Given the description of an element on the screen output the (x, y) to click on. 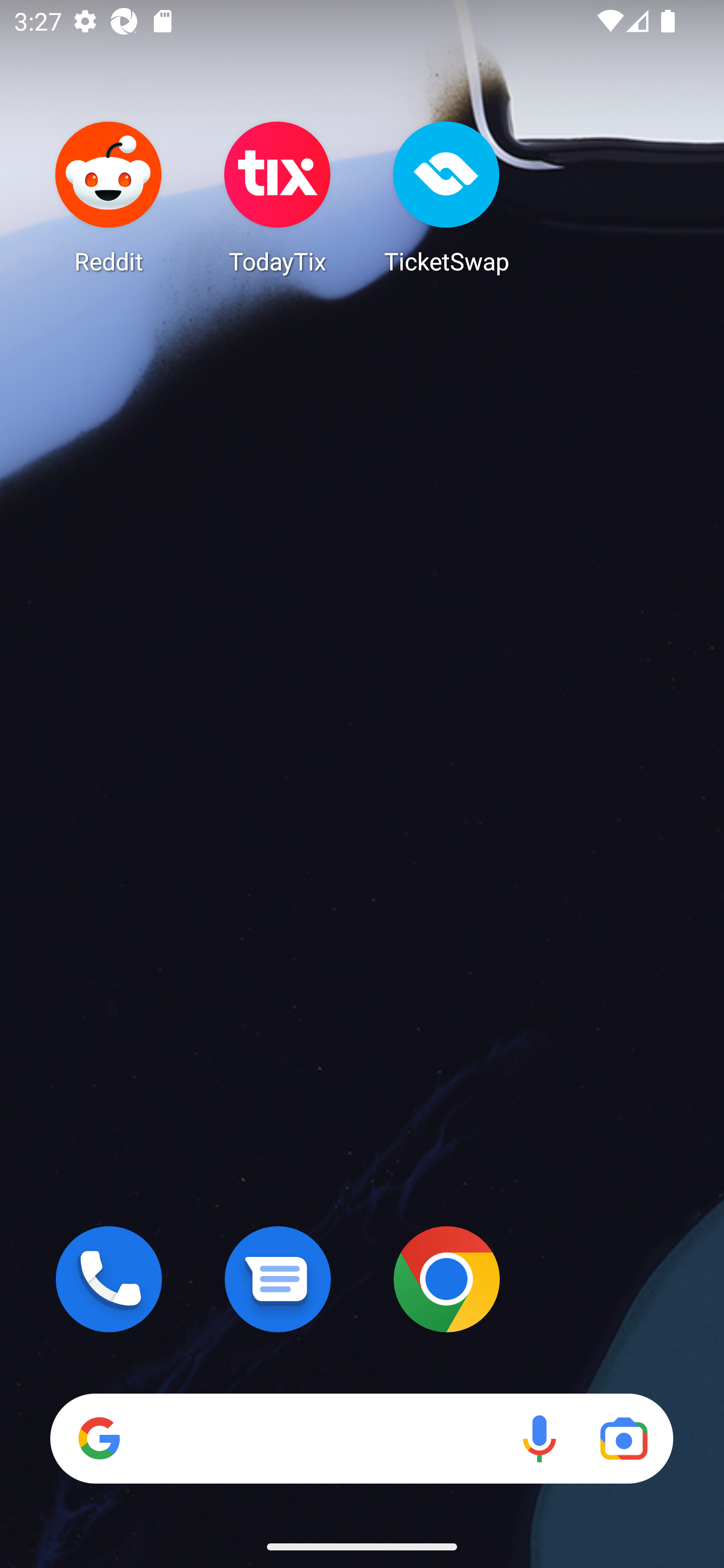
Reddit (108, 196)
TodayTix (277, 196)
TicketSwap (445, 196)
Phone (108, 1279)
Messages (277, 1279)
Chrome (446, 1279)
Voice search (539, 1438)
Google Lens (623, 1438)
